Given the description of an element on the screen output the (x, y) to click on. 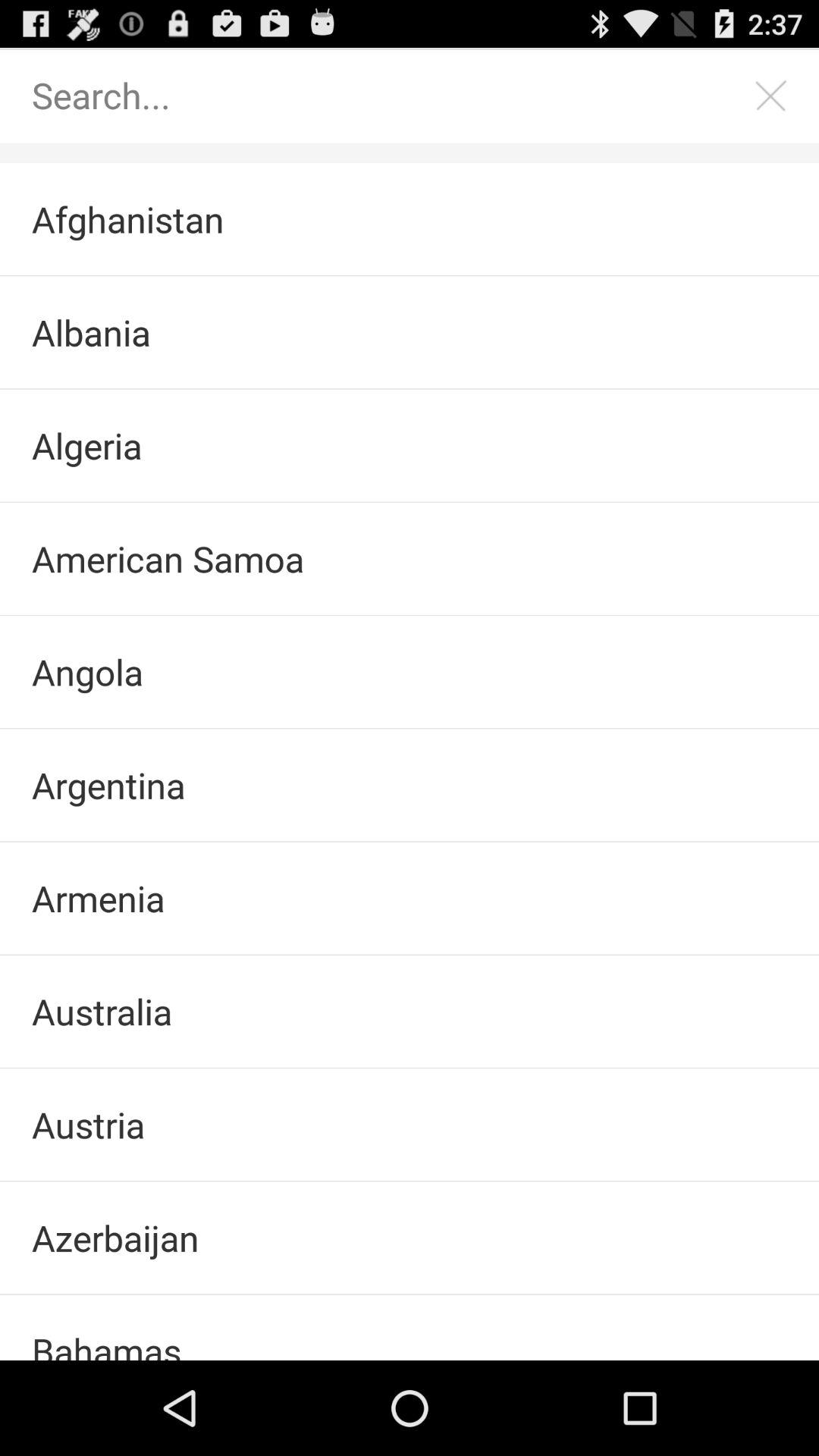
press the item above bahamas checkbox (409, 1237)
